Given the description of an element on the screen output the (x, y) to click on. 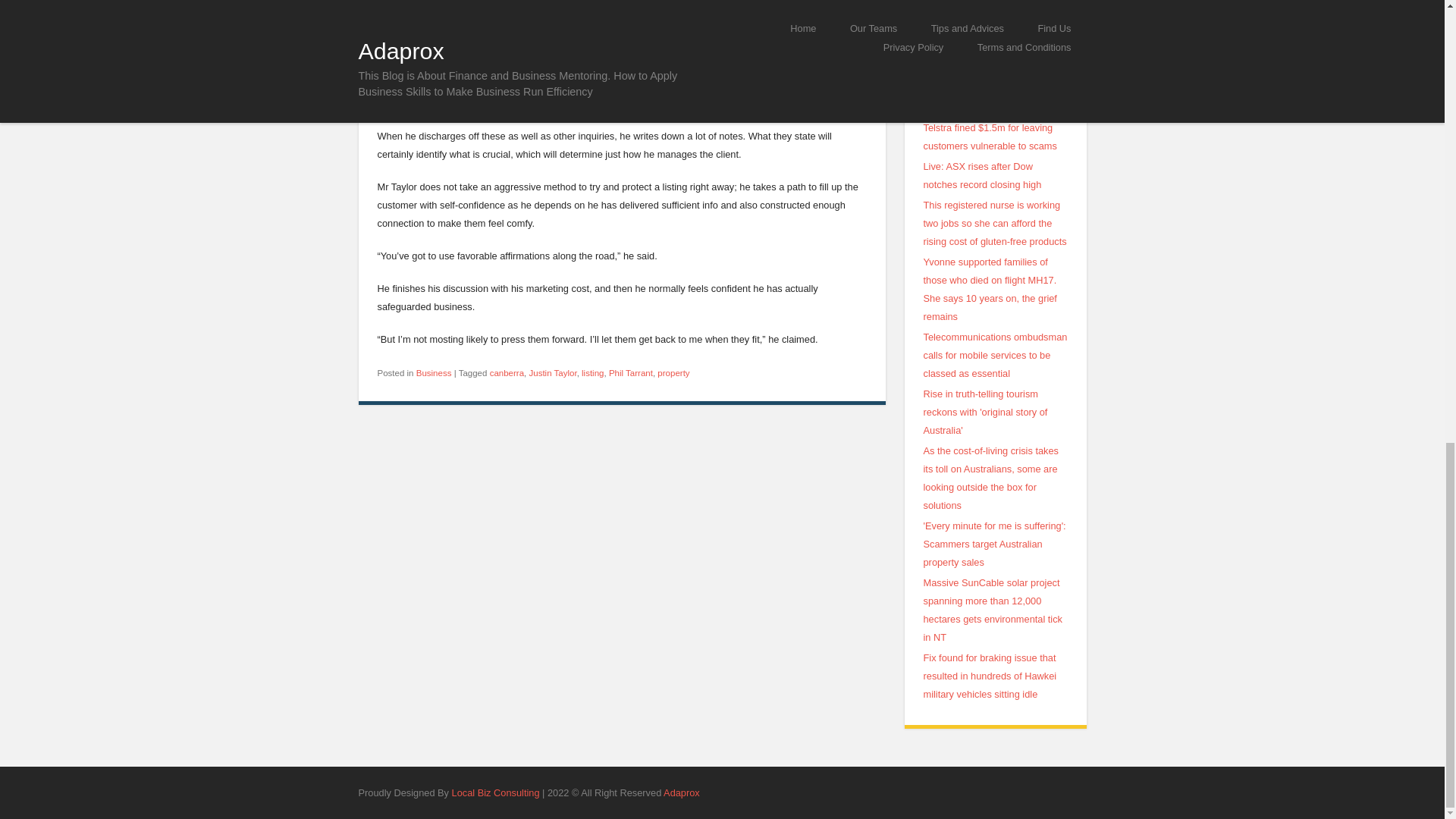
Local Biz Consulting (495, 792)
Adaprox (681, 792)
canberra (506, 372)
Business (433, 372)
listing (592, 372)
Local Biz Consulting (495, 792)
Phil Tarrant (630, 372)
Crowd Control Systems (681, 792)
